Given the description of an element on the screen output the (x, y) to click on. 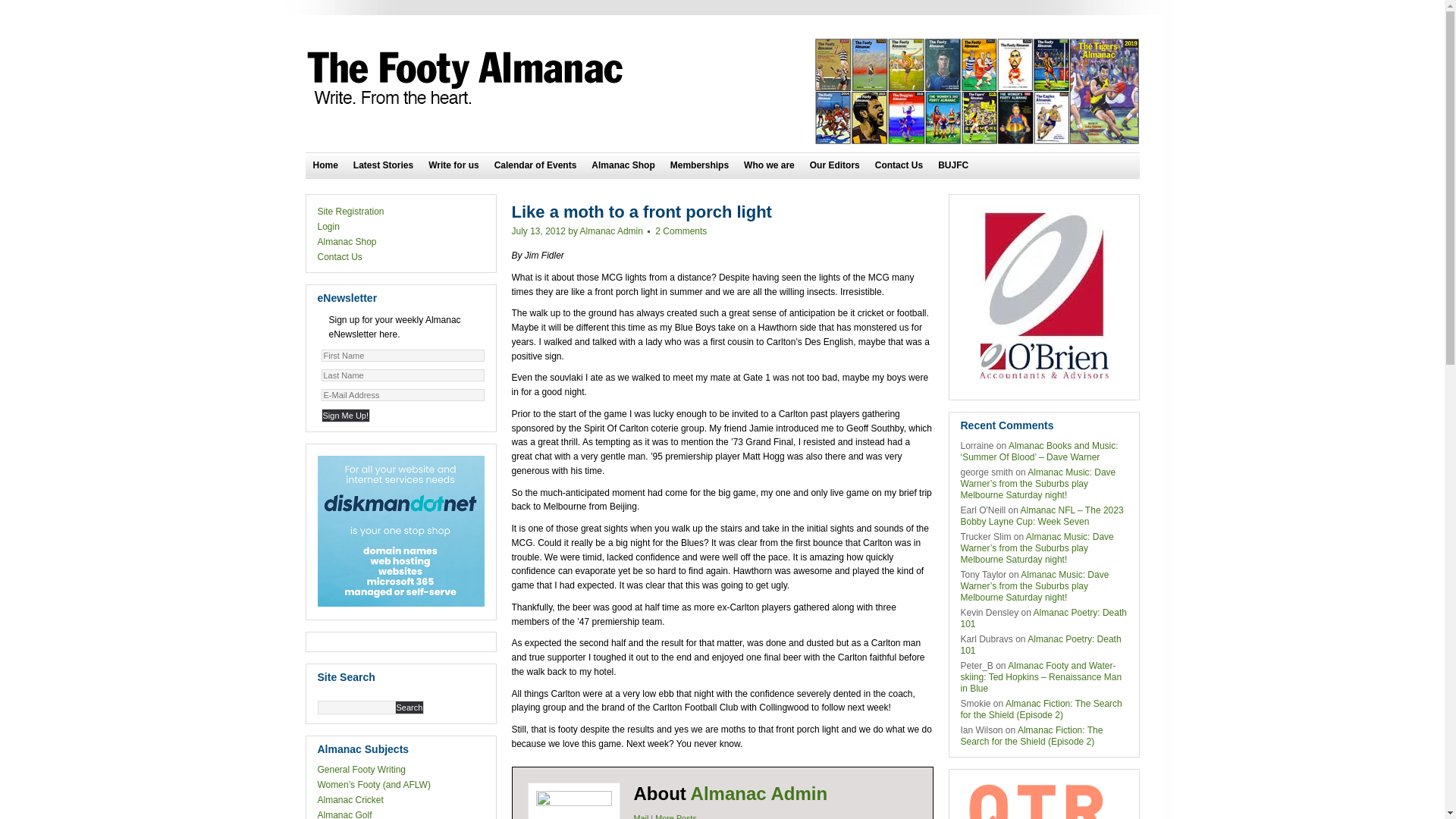
Almanac Admin Element type: text (758, 793)
Sign Me Up! Element type: text (345, 415)
Latest Stories Element type: text (382, 165)
Write for us Element type: text (453, 165)
2 Comments Element type: text (680, 230)
Almanac Cricket Element type: text (349, 799)
Contact Us Element type: text (898, 165)
Almanac Fiction: The Search for the Shield (Episode 2) Element type: text (1031, 735)
BUJFC Element type: text (952, 165)
THE FOOTY ALMANAC Element type: text (467, 78)
Almanac Poetry: Death 101 Element type: text (1040, 644)
Who we are Element type: text (769, 165)
Our Editors Element type: text (834, 165)
Almanac Fiction: The Search for the Shield (Episode 2) Element type: text (1040, 709)
Search Element type: text (408, 707)
Almanac Shop Element type: text (346, 241)
Almanac Shop Element type: text (622, 165)
Login Element type: text (327, 226)
Site Registration Element type: text (349, 211)
Home Element type: text (324, 165)
Memberships Element type: text (699, 165)
Almanac Poetry: Death 101 Element type: text (1043, 618)
Calendar of Events Element type: text (535, 165)
Almanac Admin Element type: text (611, 230)
Contact Us Element type: text (338, 256)
General Footy Writing Element type: text (360, 769)
